Given the description of an element on the screen output the (x, y) to click on. 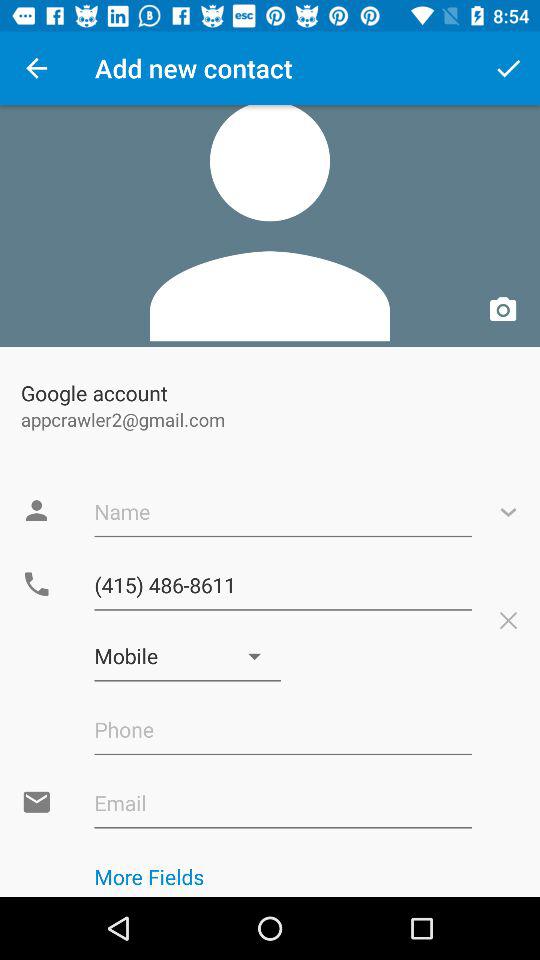
click on the text mobile (187, 656)
select the text field with text name (282, 512)
click on the contact icon beside name (36, 511)
select the icon right to the text name (508, 511)
select the camera icon which is on the right side of the page (503, 310)
